Given the description of an element on the screen output the (x, y) to click on. 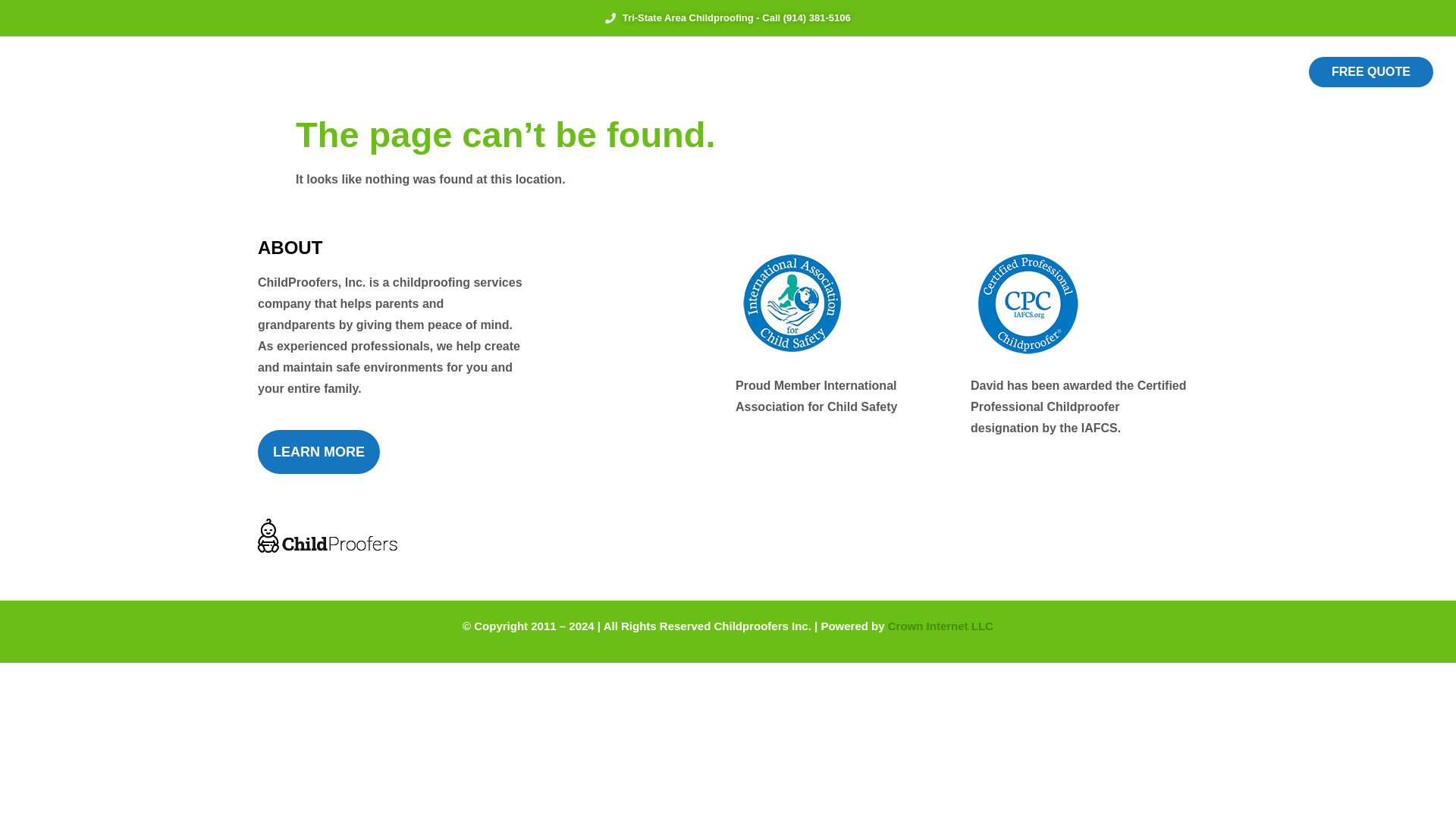
Resources (746, 71)
Home (508, 71)
FREE QUOTE (1370, 71)
Contact (940, 71)
About Us (580, 71)
Photo Gallery (849, 71)
LEARN MORE (318, 451)
Crown Internet LLC (940, 625)
Services (660, 71)
